Given the description of an element on the screen output the (x, y) to click on. 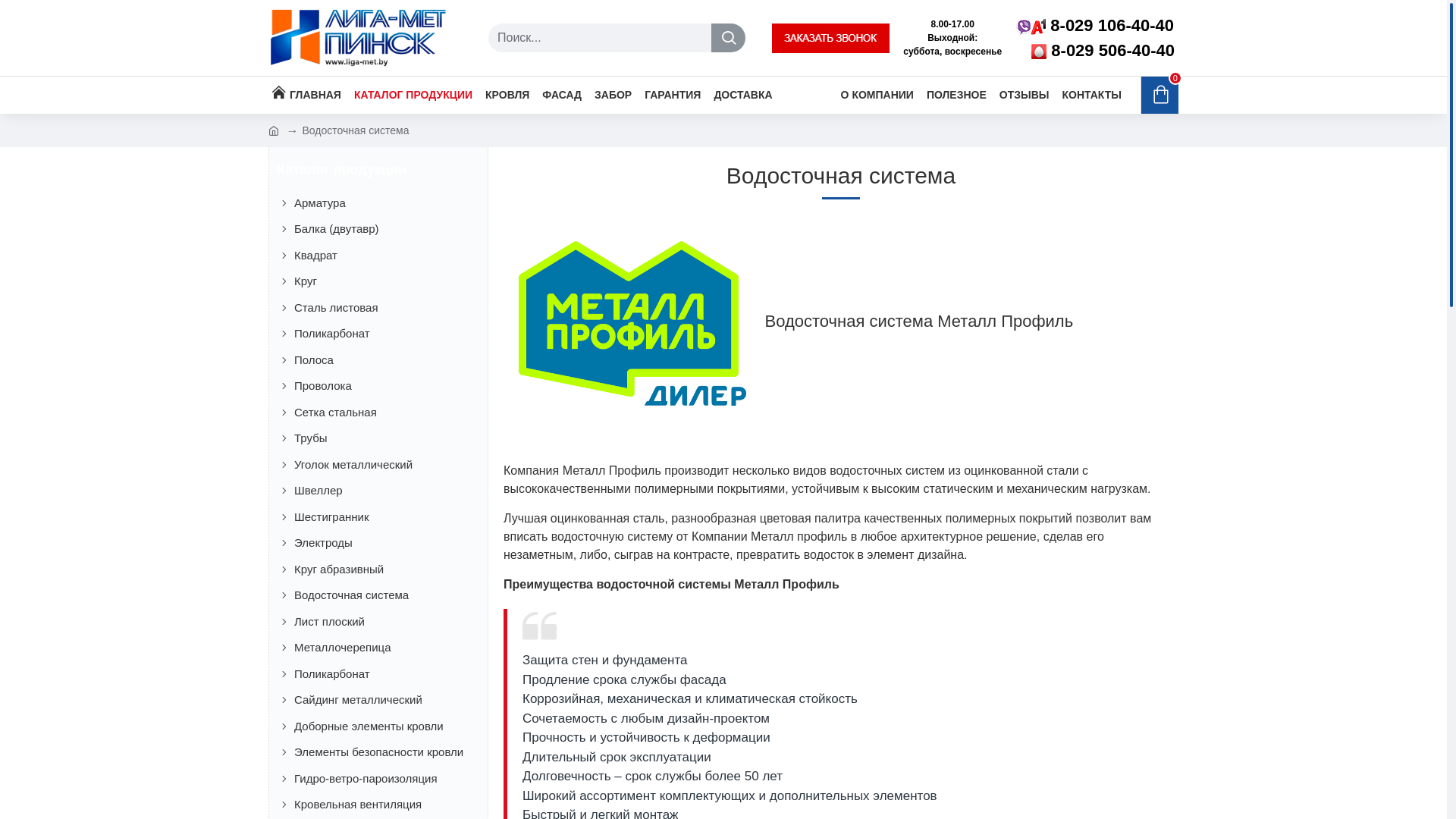
0 Element type: text (1159, 94)
8-029 106-40-40
8-029 506-40-40 Element type: text (1094, 37)
